Given the description of an element on the screen output the (x, y) to click on. 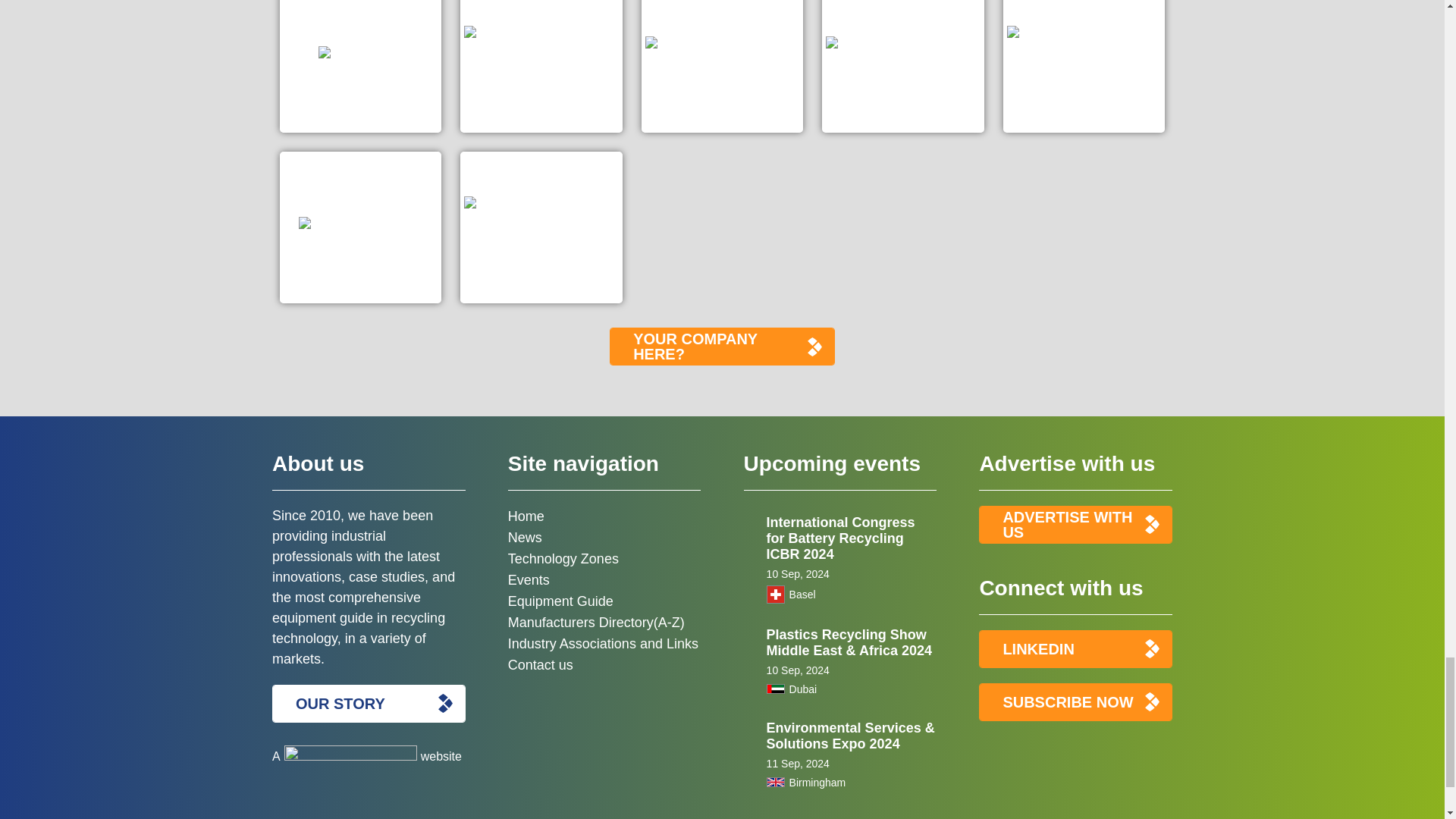
United Arab Emirates (775, 688)
United Kingdom (775, 782)
Switzerland (775, 594)
